Given the description of an element on the screen output the (x, y) to click on. 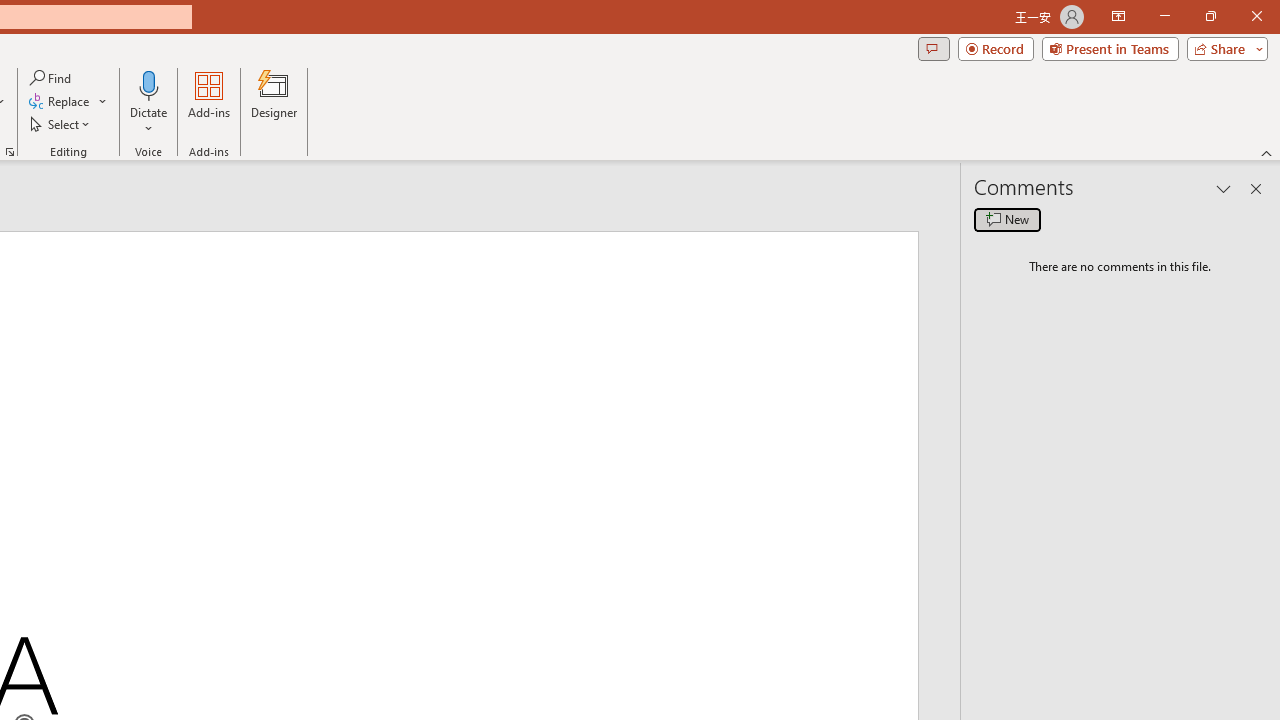
New comment (1007, 219)
